Given the description of an element on the screen output the (x, y) to click on. 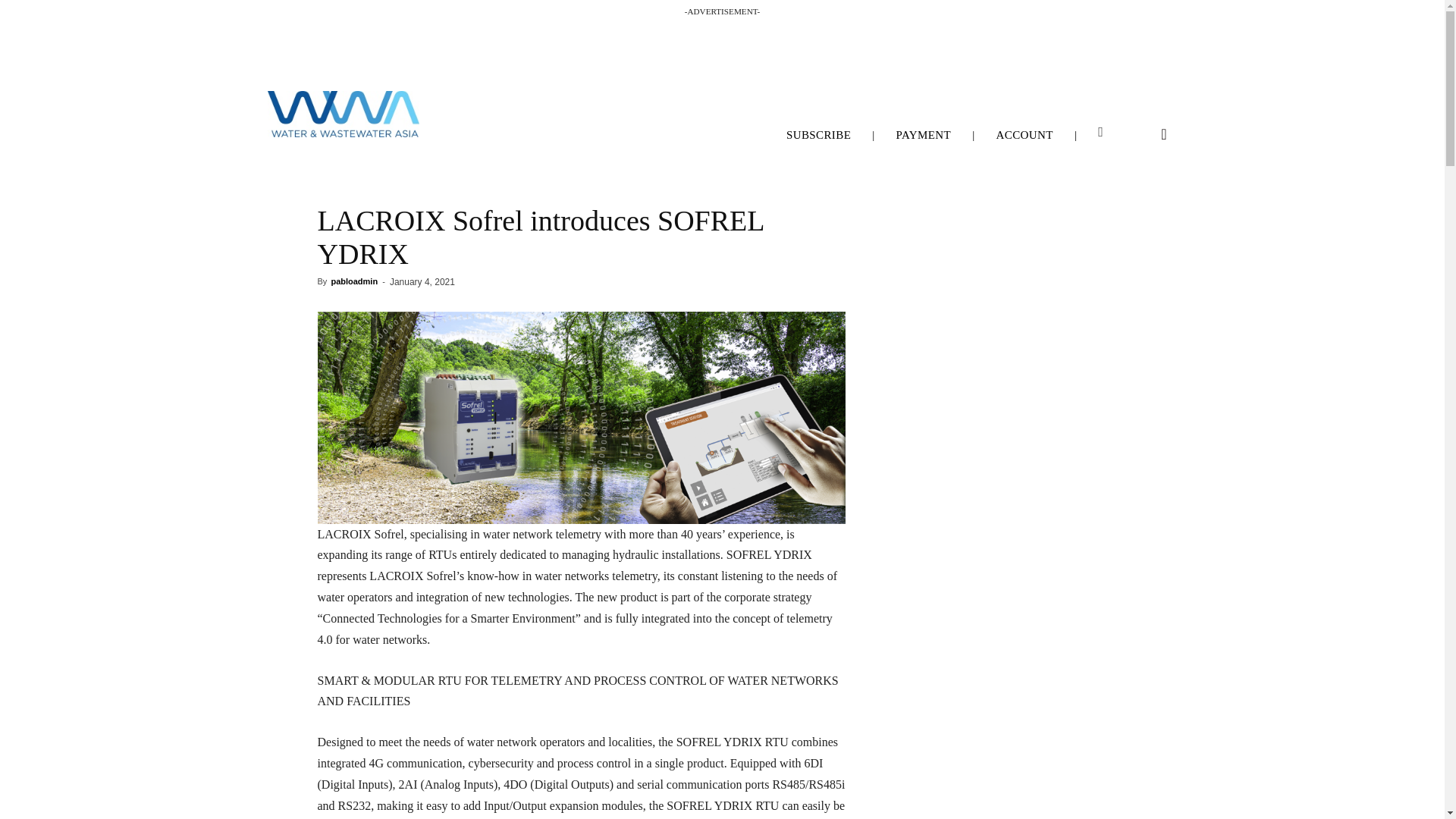
ACCOUNT (1024, 134)
SUBSCRIBE (818, 134)
My Cart (1100, 131)
PAYMENT (923, 134)
